Given the description of an element on the screen output the (x, y) to click on. 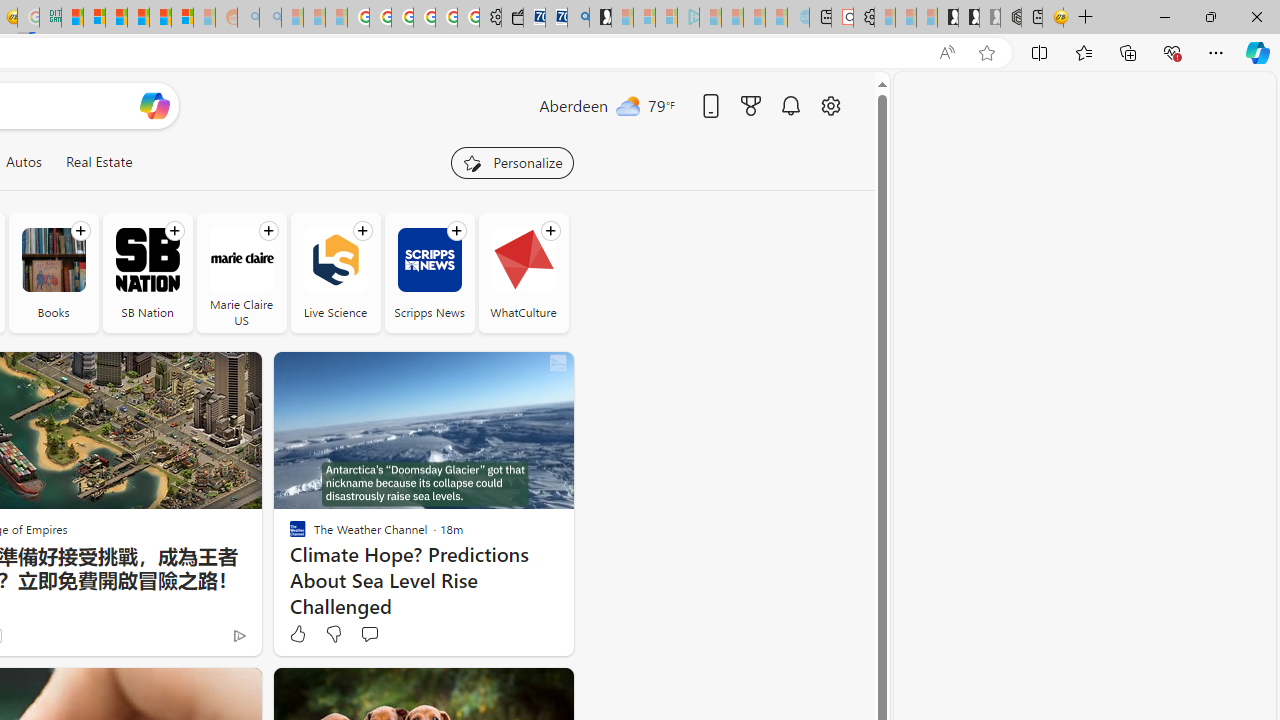
Scripps News (429, 260)
